Given the description of an element on the screen output the (x, y) to click on. 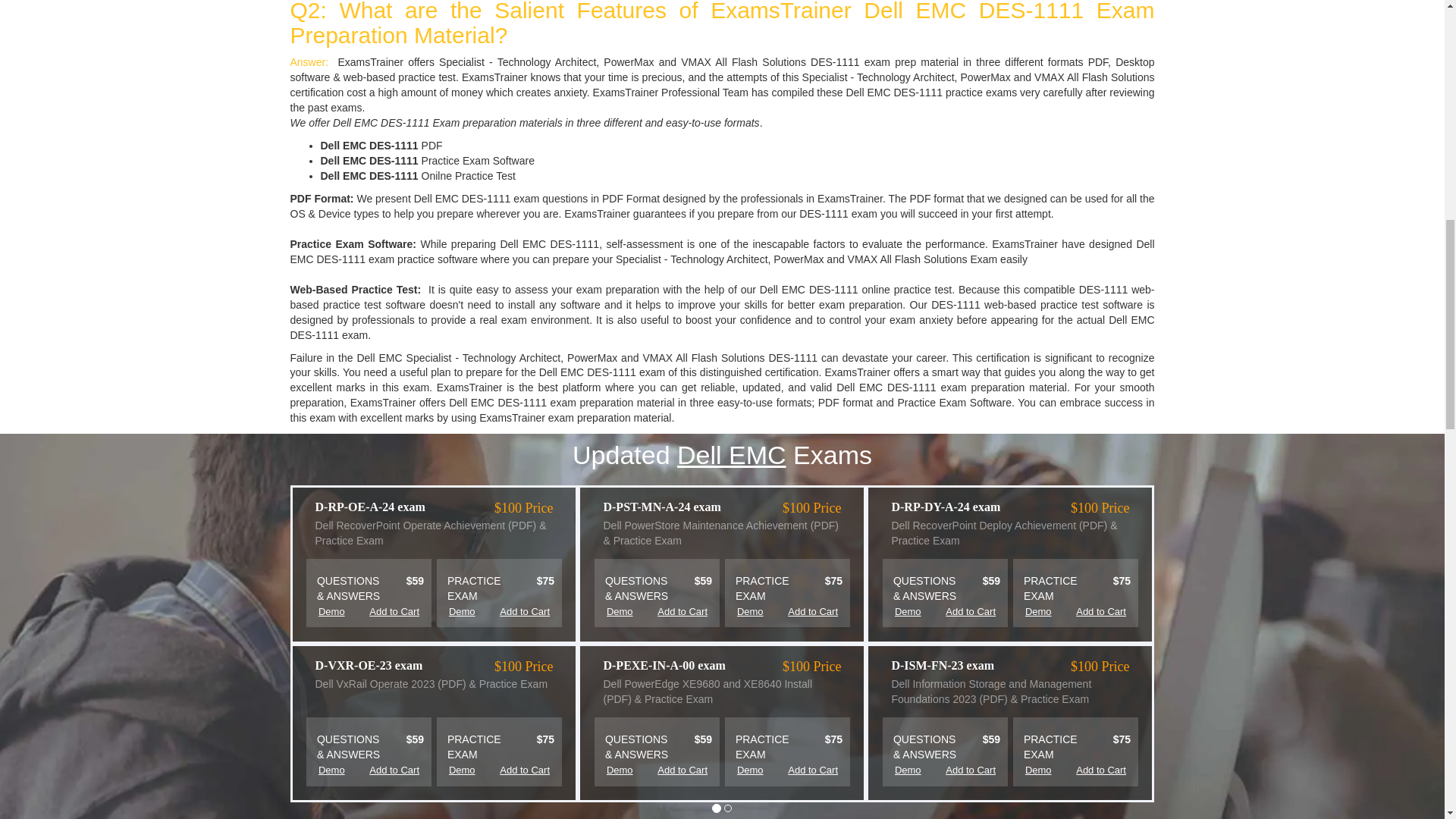
Demo (750, 611)
Demo (331, 611)
D-PST-MN-A-24 exam (678, 507)
Demo (619, 611)
Add to Cart (381, 611)
Add to Cart (512, 611)
D-RP-OE-A-24 exam (391, 507)
Add to Cart (669, 611)
D-RP-DY-A-24 exam (967, 507)
Add to Cart (801, 611)
Demo (462, 611)
